Given the description of an element on the screen output the (x, y) to click on. 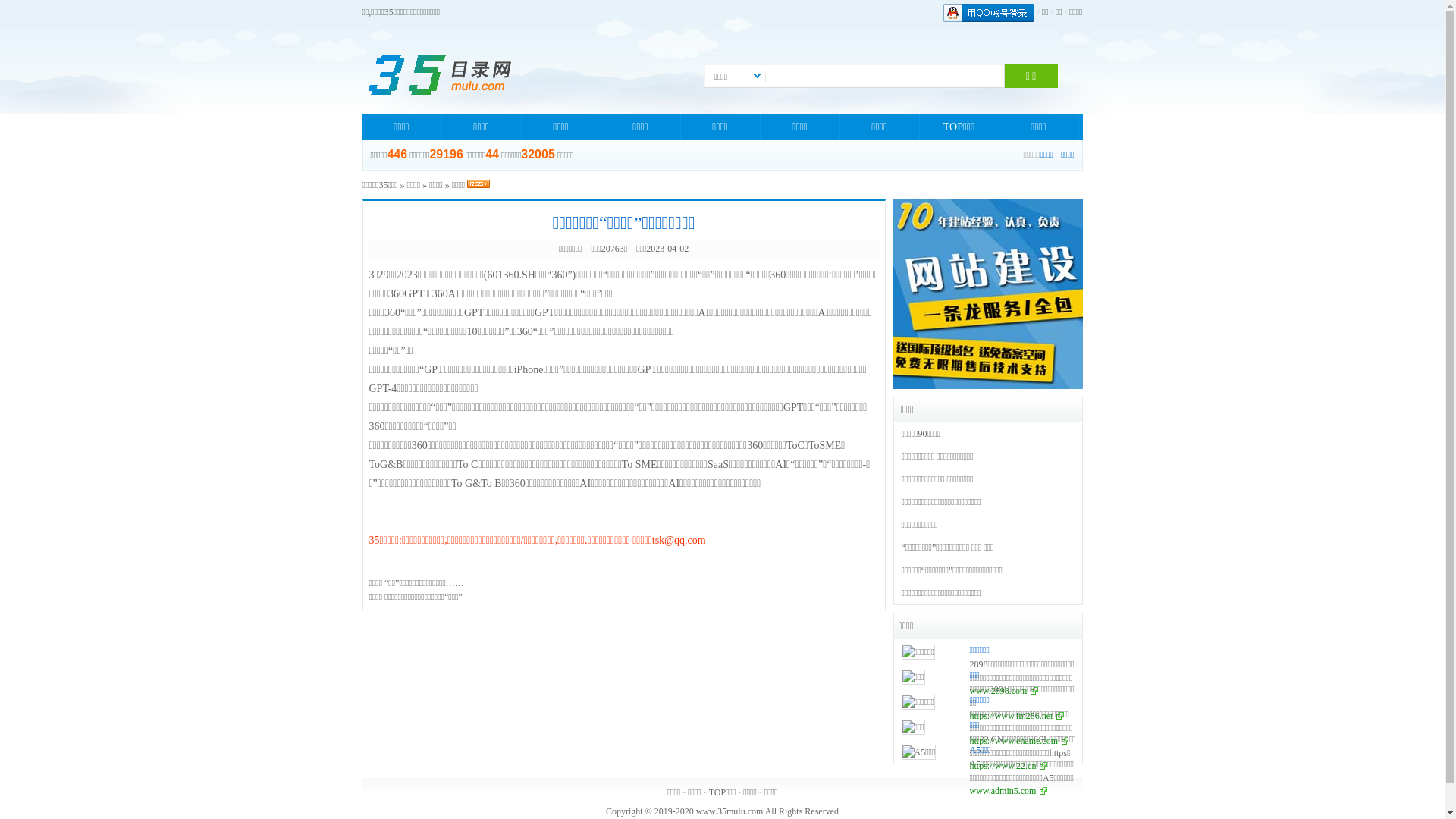
www.admin5.com Element type: text (1008, 790)
https://www.22.cn Element type: text (1008, 765)
www.2898.com Element type: text (1003, 690)
https://www.ename.com Element type: text (1019, 740)
https://www.im286.net Element type: text (1016, 715)
